Given the description of an element on the screen output the (x, y) to click on. 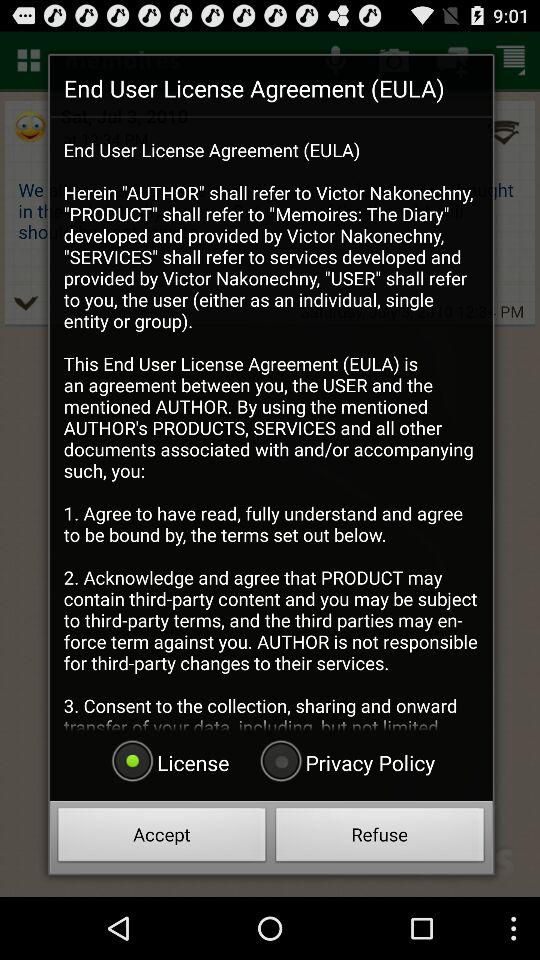
click icon to the right of accept (380, 837)
